Given the description of an element on the screen output the (x, y) to click on. 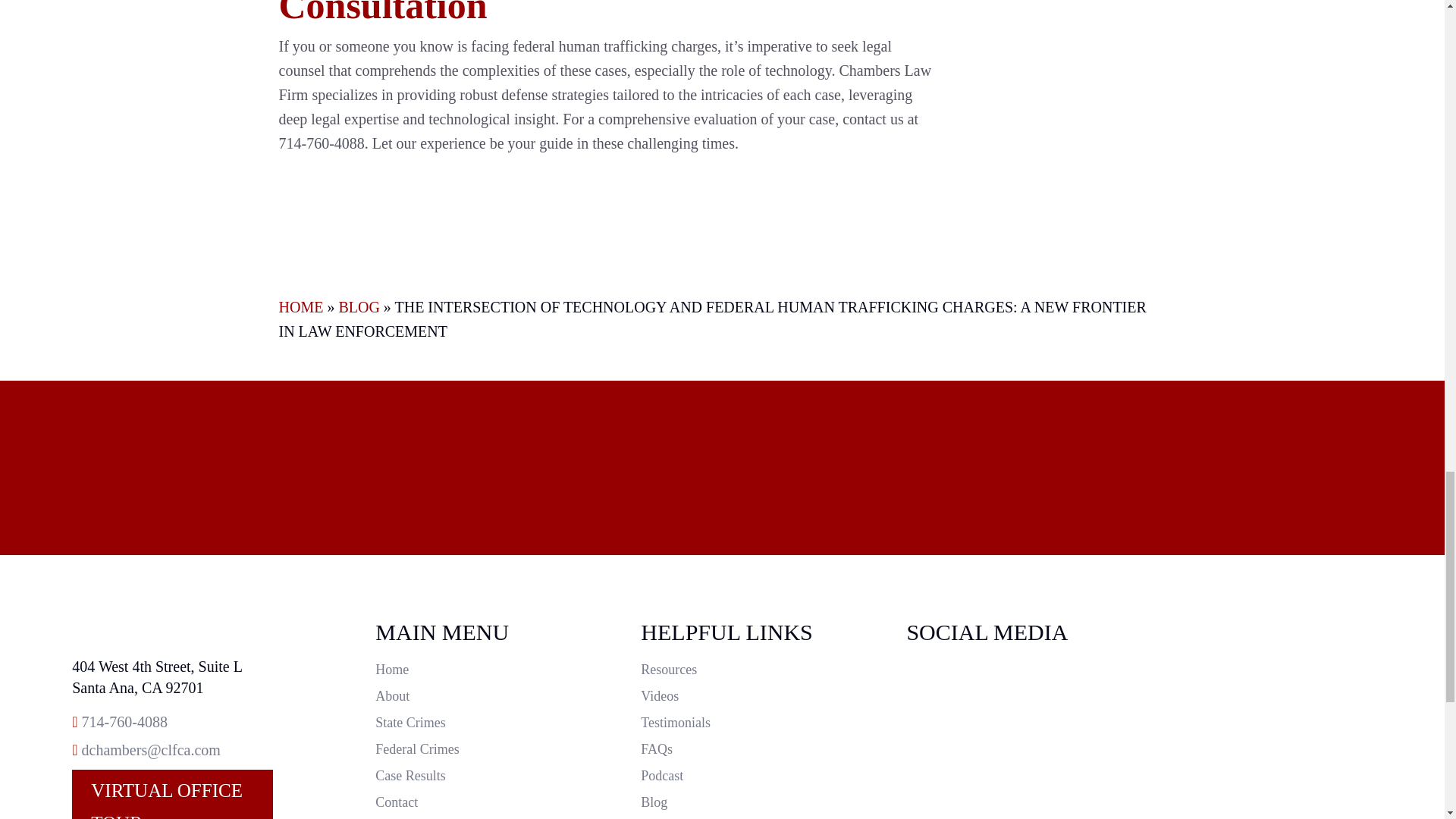
Yelp (1009, 780)
Instagram (1009, 677)
TikTok (1009, 702)
Chambers Law Firm (171, 629)
Email (151, 750)
Avvo (1009, 754)
Facebook (1009, 728)
